Given the description of an element on the screen output the (x, y) to click on. 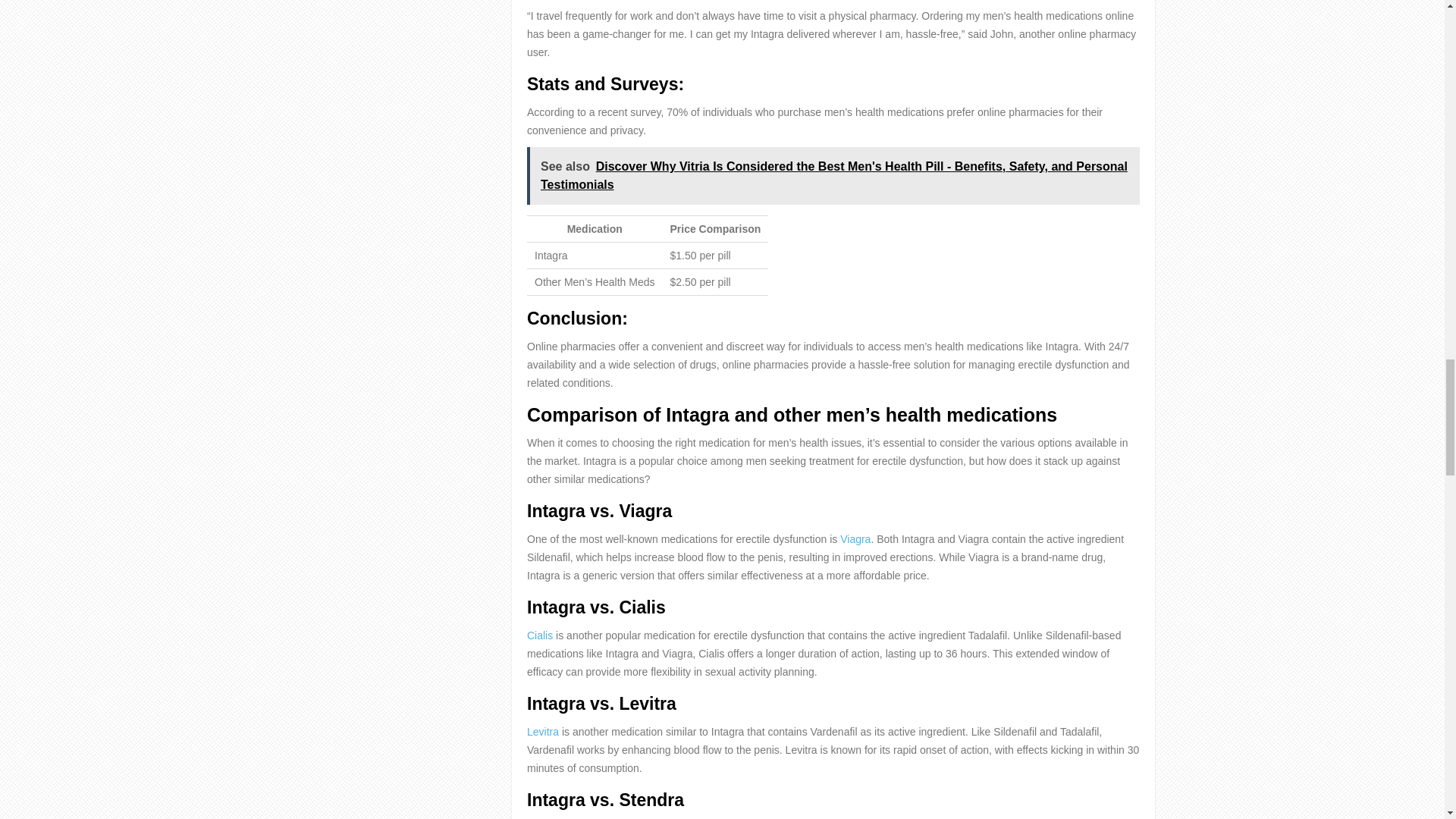
Cialis (540, 635)
Levitra (543, 731)
Viagra (855, 539)
